Given the description of an element on the screen output the (x, y) to click on. 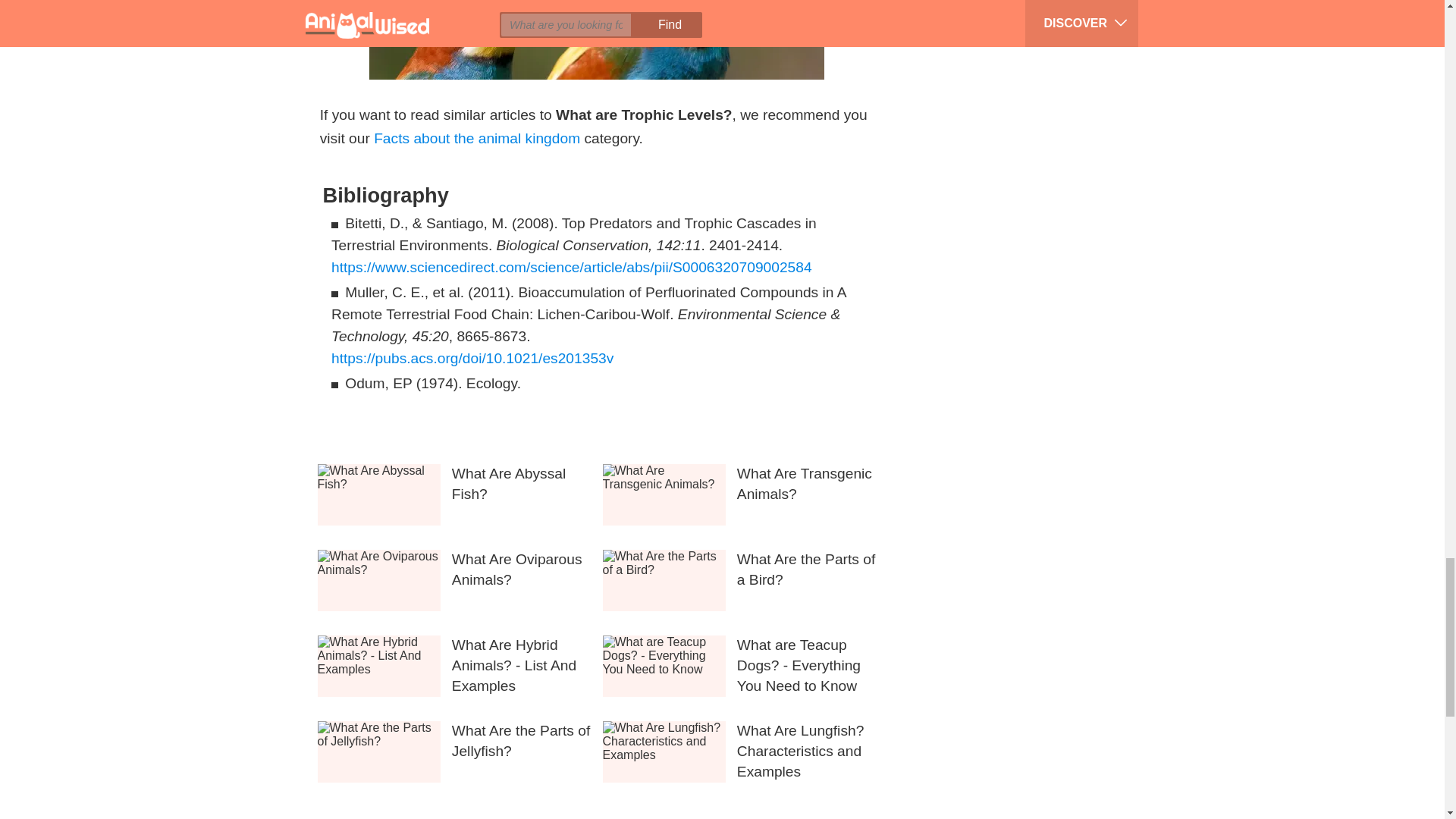
Facts about the animal kingdom (476, 138)
